Given the description of an element on the screen output the (x, y) to click on. 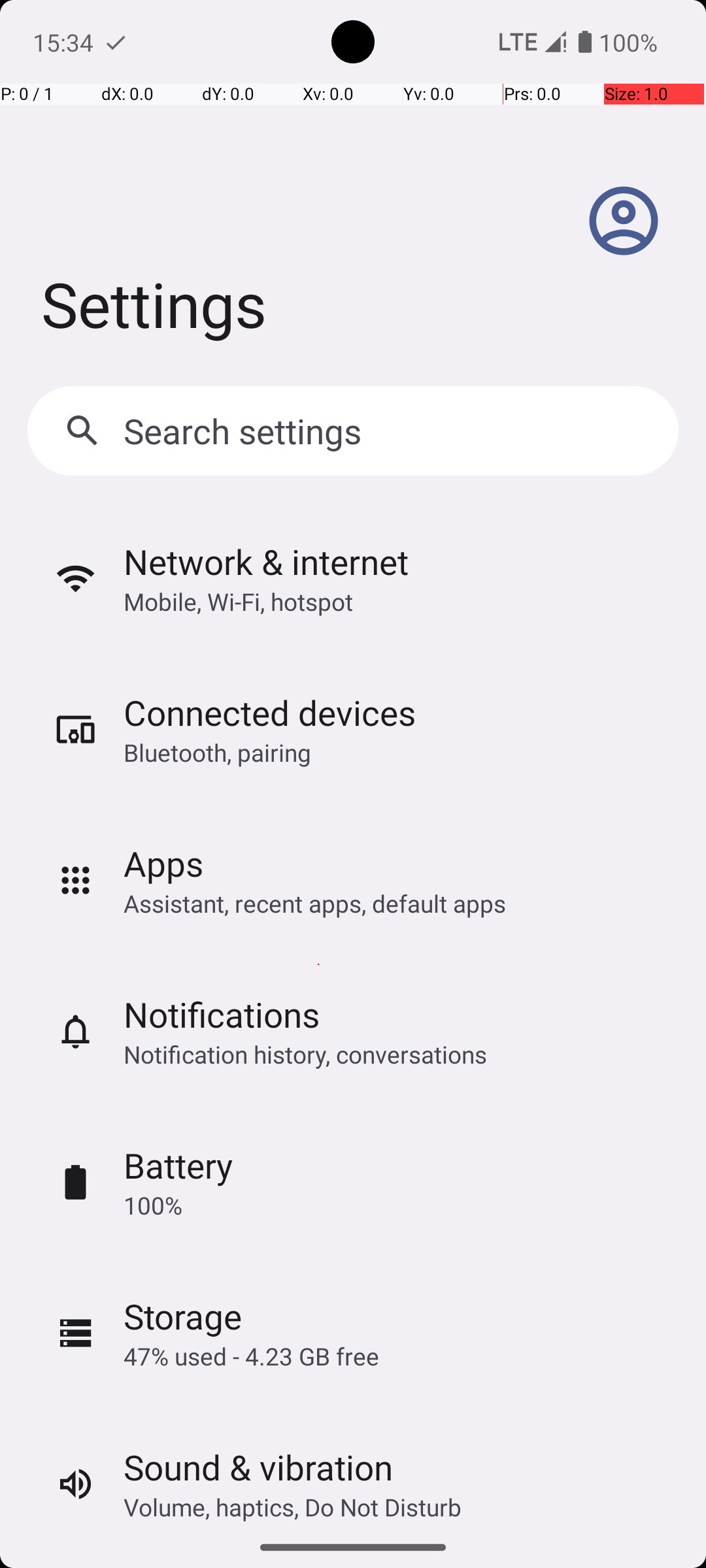
47% used - 4.23 GB free Element type: android.widget.TextView (251, 1355)
